Given the description of an element on the screen output the (x, y) to click on. 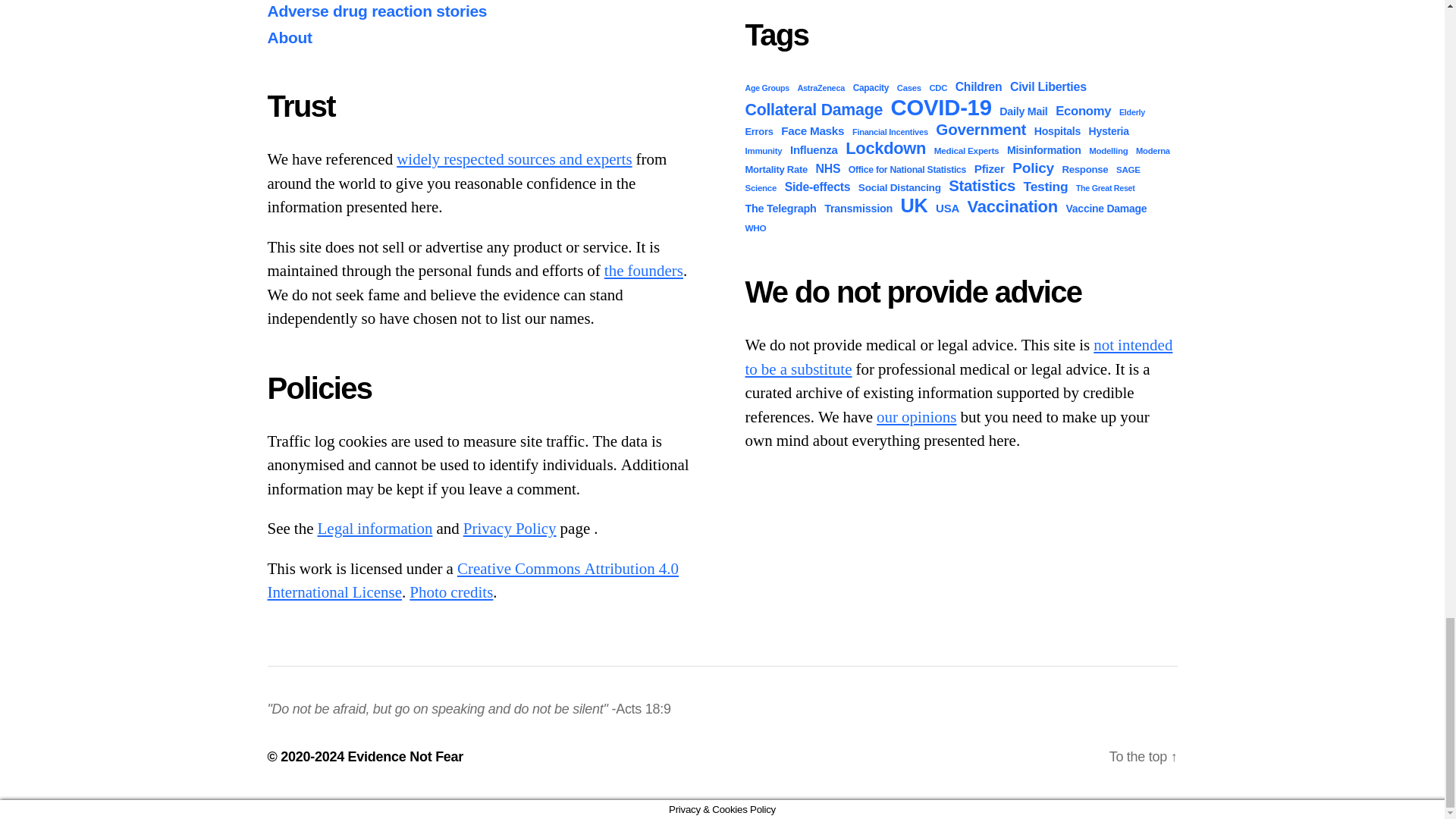
About (643, 271)
Legal information (374, 528)
Information sources (513, 159)
Privacy policy (509, 528)
